Given the description of an element on the screen output the (x, y) to click on. 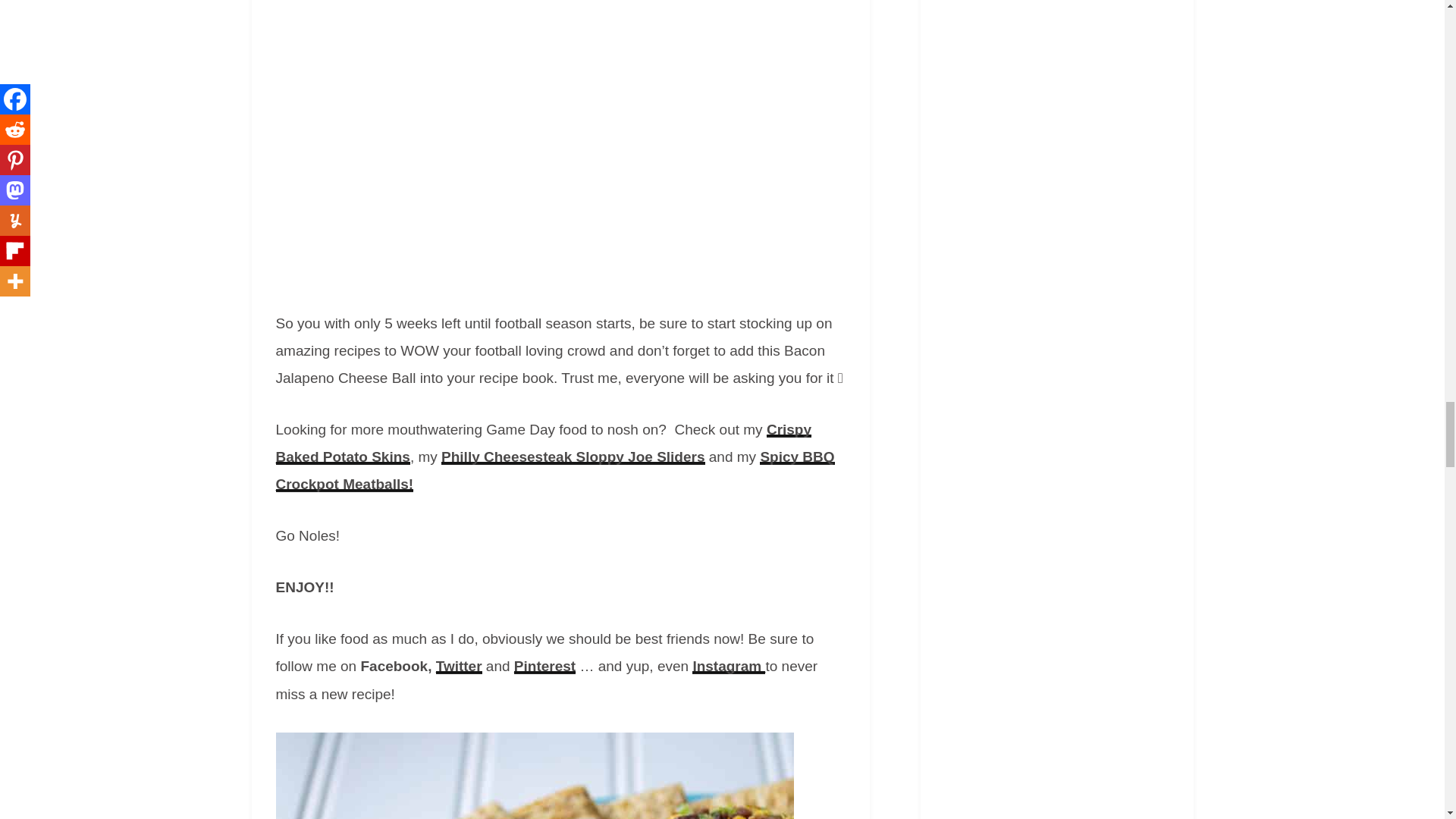
Spicy BBQ Crockpot Meatballs! (555, 470)
Twitter (458, 666)
Instagram  (729, 666)
Pinterest (544, 666)
Philly Cheesesteak Sloppy Joe Sliders (572, 456)
Crispy Baked Potato Skins (544, 443)
